Given the description of an element on the screen output the (x, y) to click on. 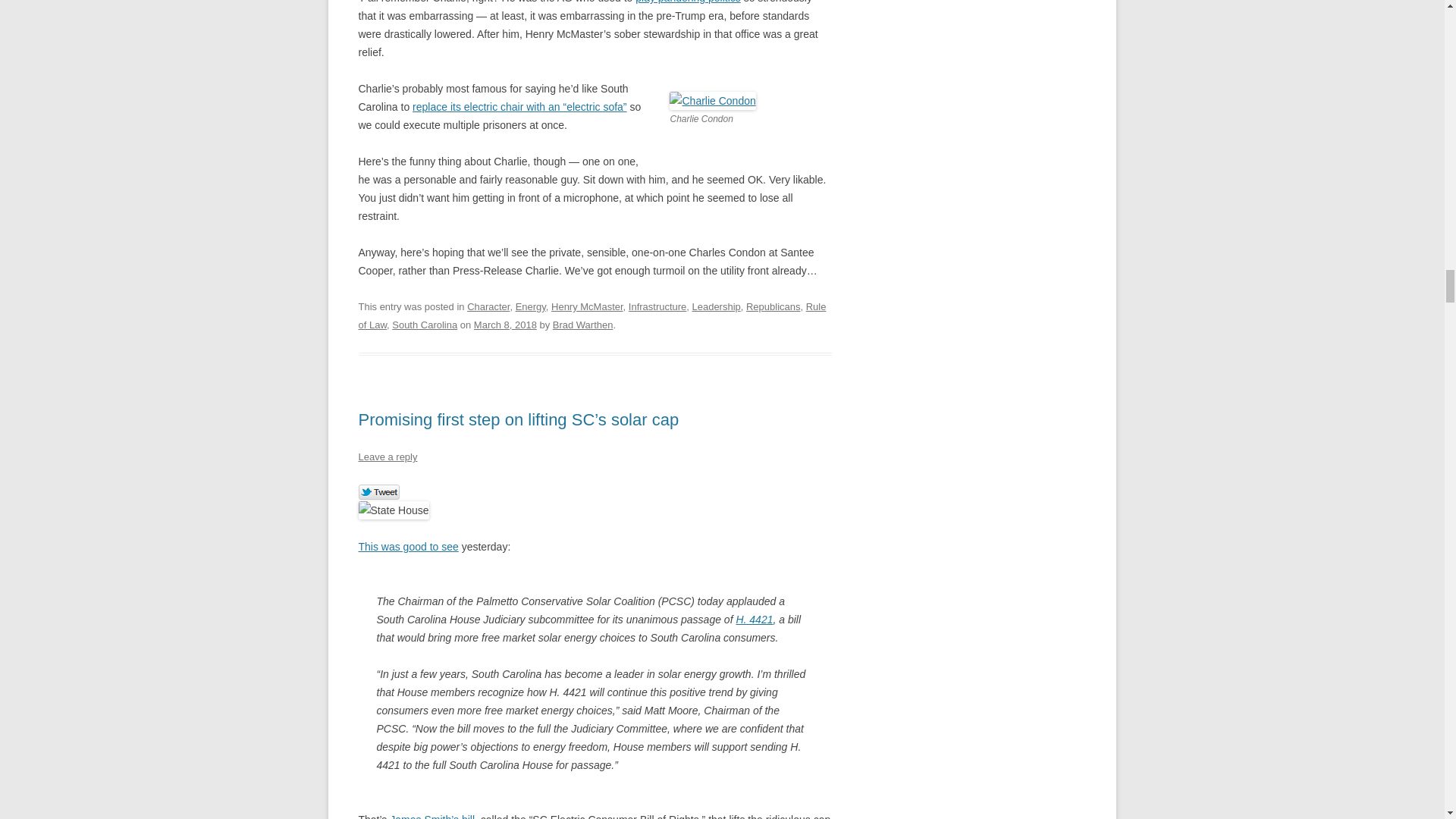
5:32 pm (505, 324)
View all posts by Brad Warthen (582, 324)
